Given the description of an element on the screen output the (x, y) to click on. 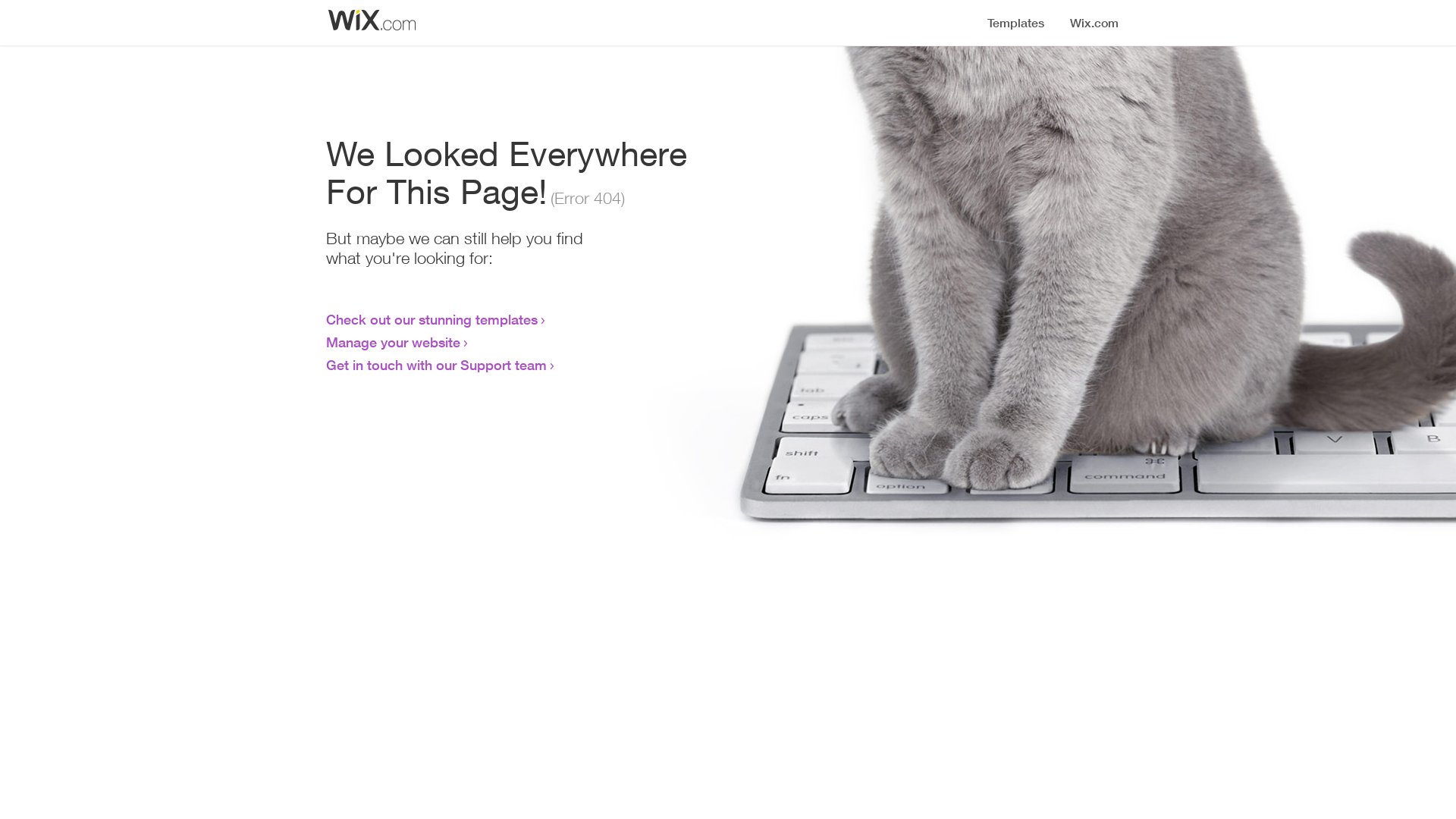
Manage your website Element type: text (393, 341)
Get in touch with our Support team Element type: text (436, 364)
Check out our stunning templates Element type: text (431, 318)
